Given the description of an element on the screen output the (x, y) to click on. 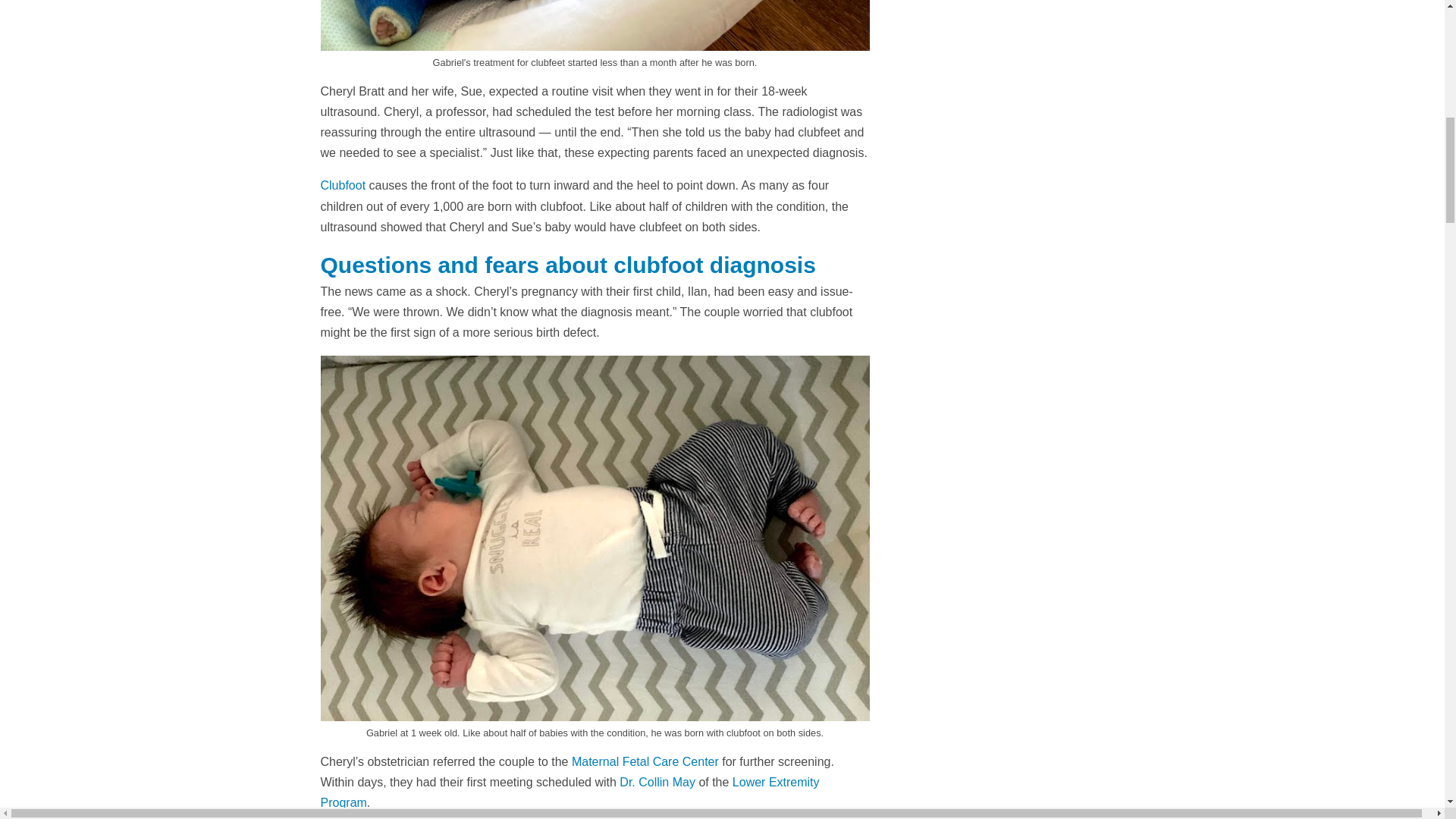
Maternal Fetal Care Center (645, 761)
Clubfoot (342, 185)
Lower Extremity Program (569, 792)
Dr. Collin May (657, 781)
